Given the description of an element on the screen output the (x, y) to click on. 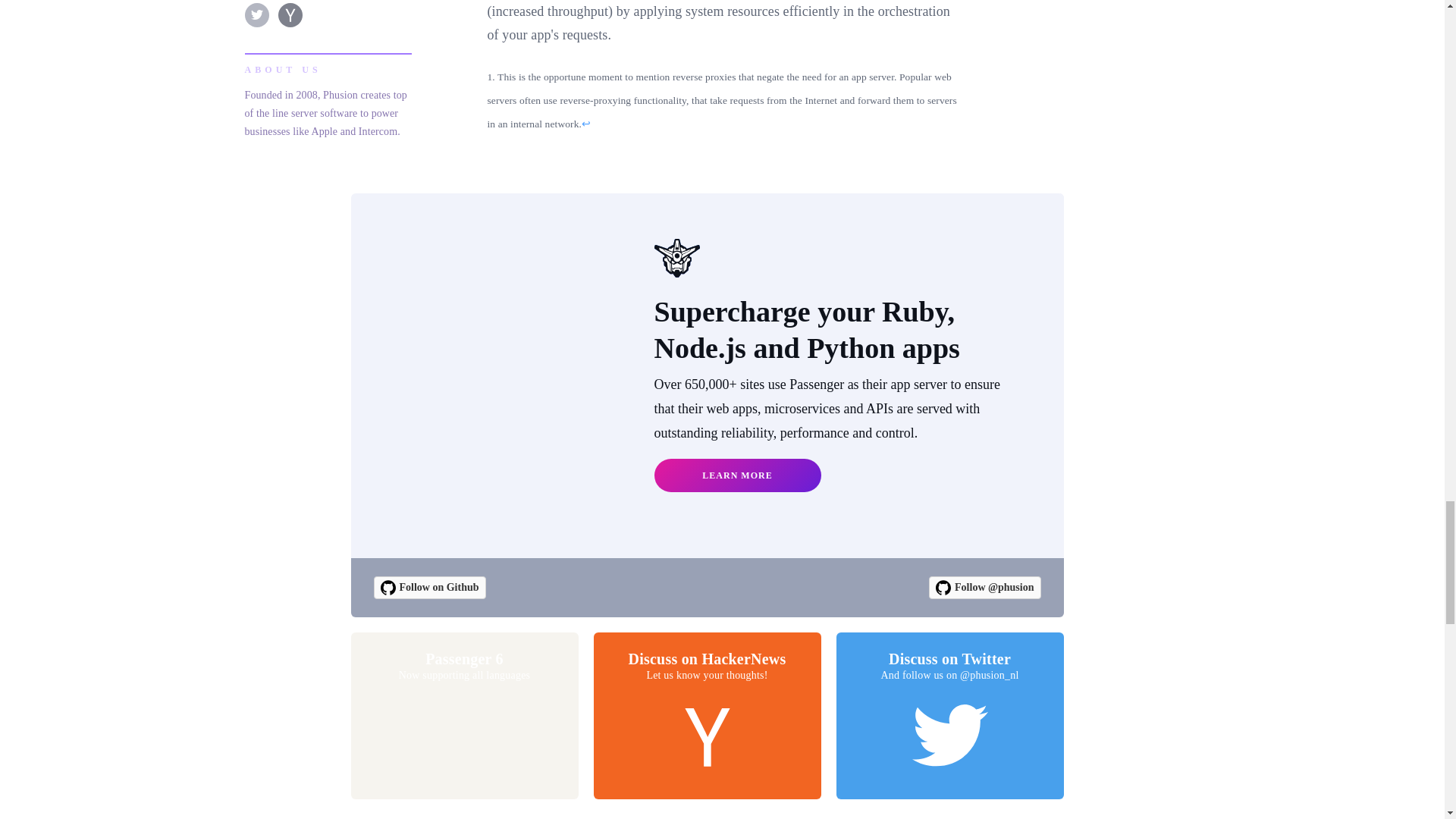
Follow on Github (464, 715)
LEARN MORE (706, 715)
